Given the description of an element on the screen output the (x, y) to click on. 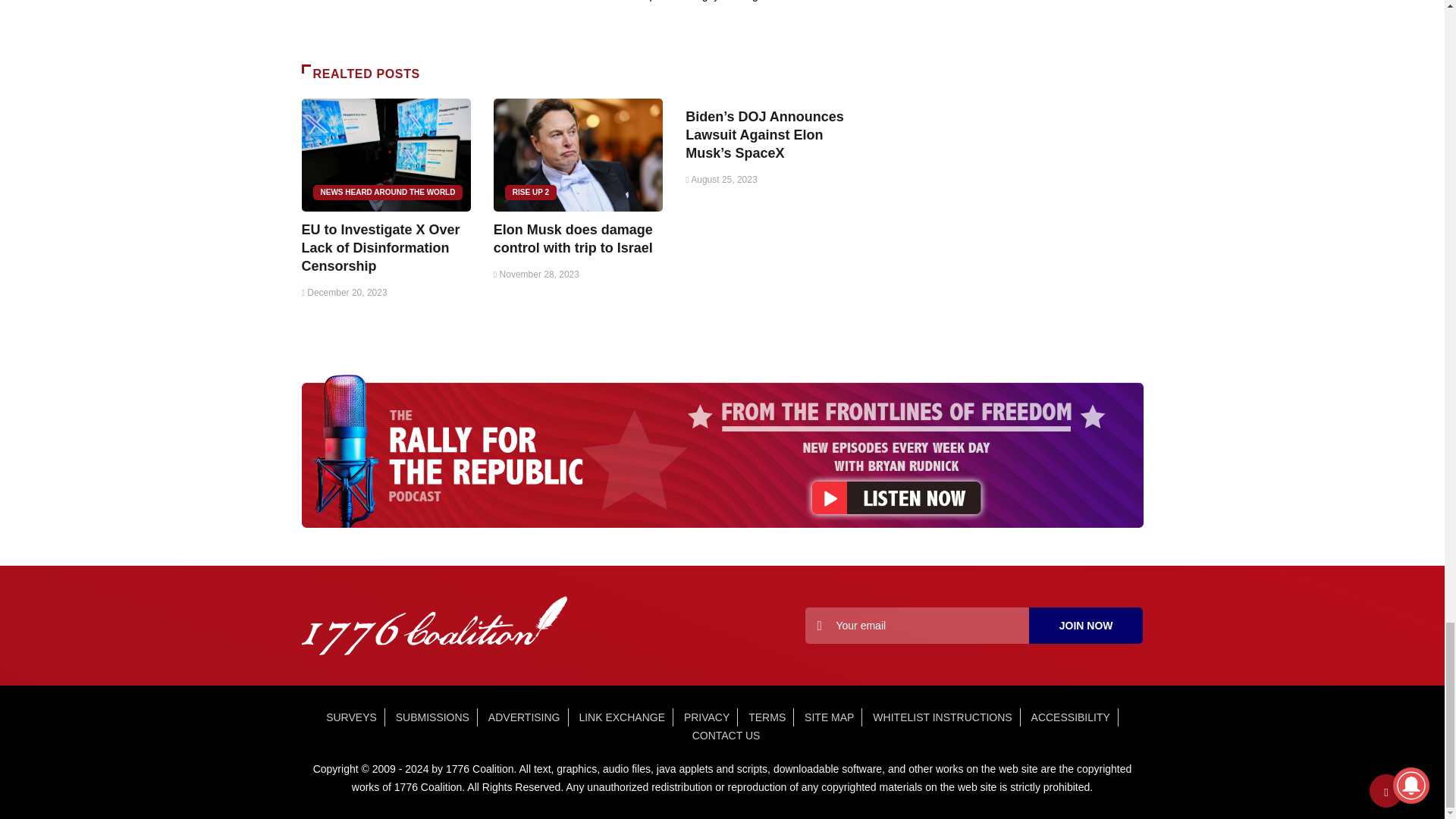
EU to Investigate X Over Lack of Disinformation Censorship (385, 154)
EU to Investigate X Over Lack of Disinformation Censorship (380, 247)
Join Now (1085, 625)
Elon Musk does damage control with trip to Israel (577, 154)
